Given the description of an element on the screen output the (x, y) to click on. 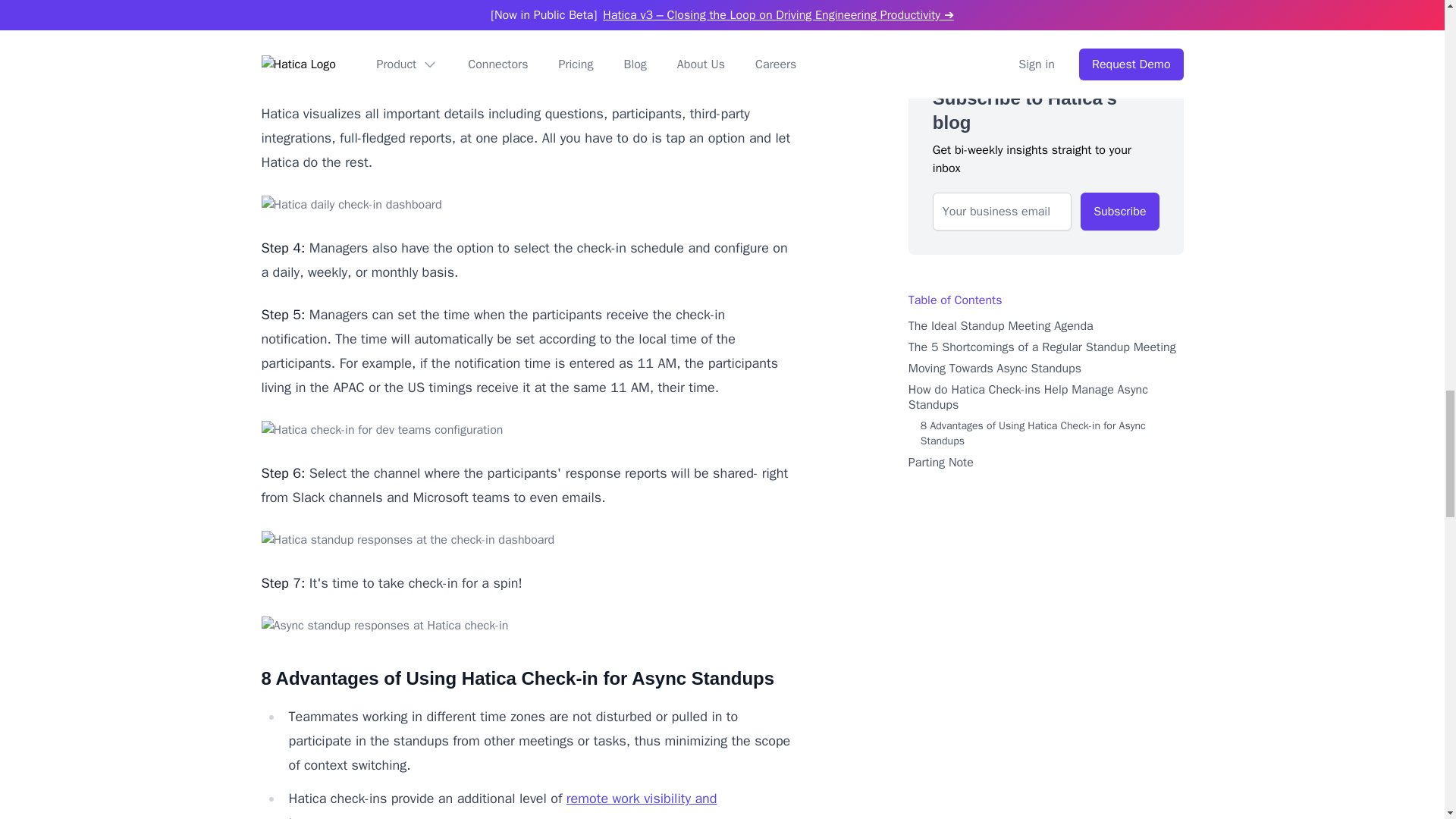
remote work visibility and transparency (502, 804)
